Given the description of an element on the screen output the (x, y) to click on. 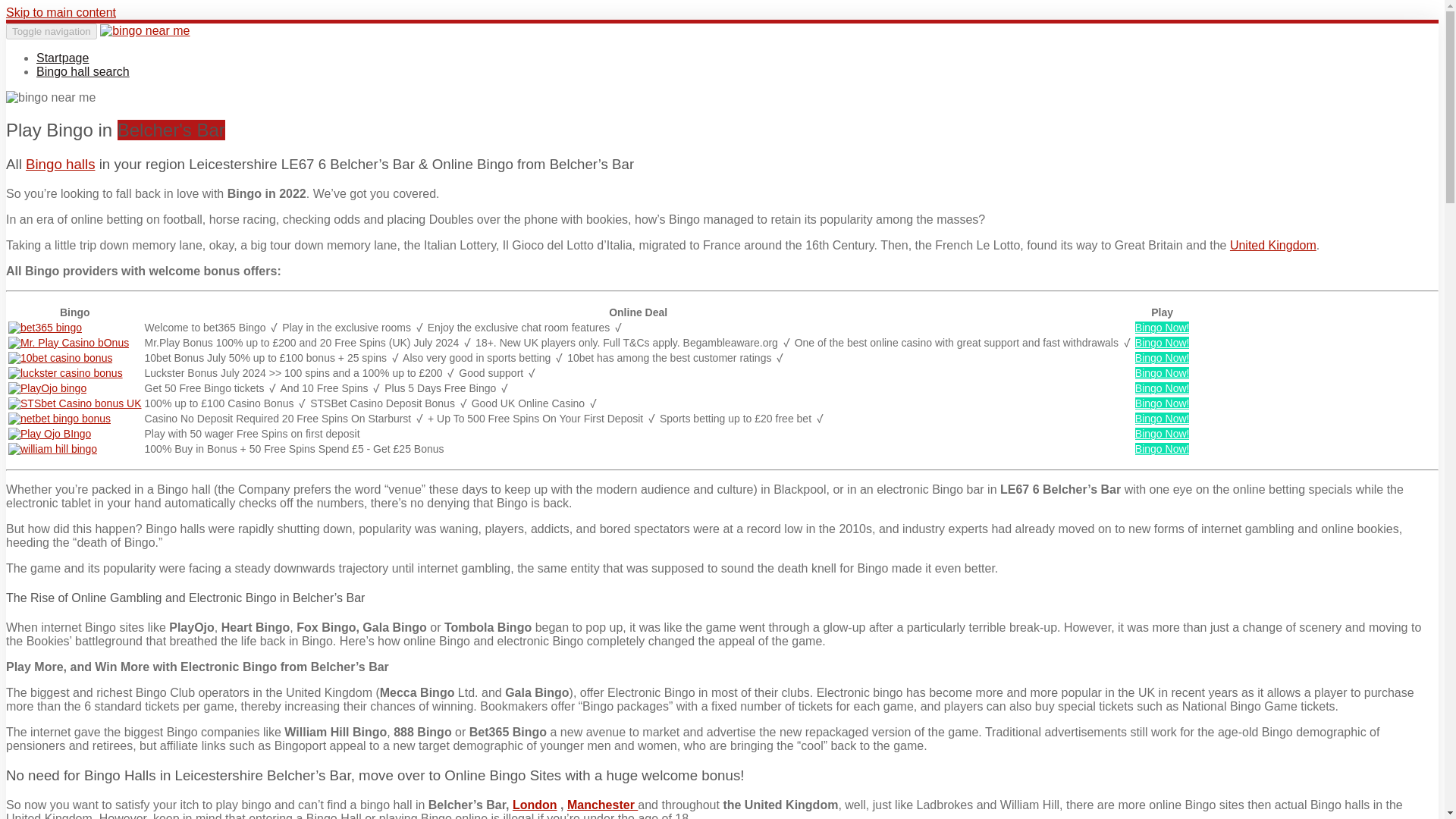
Bingo Now! (1162, 372)
Bingo Now! (1162, 342)
Startpage (62, 57)
Toggle navigation (51, 31)
Bingo Now! (1162, 357)
London (534, 803)
Manchester (602, 803)
Bingo Now! (1162, 327)
Bingo Now! (1162, 449)
Bingo Now! (1162, 418)
Bingo halls (61, 163)
Bingo hall search (82, 71)
Bingo Now! (1162, 433)
Skip to main content (60, 11)
Bingo Now! (1162, 387)
